Given the description of an element on the screen output the (x, y) to click on. 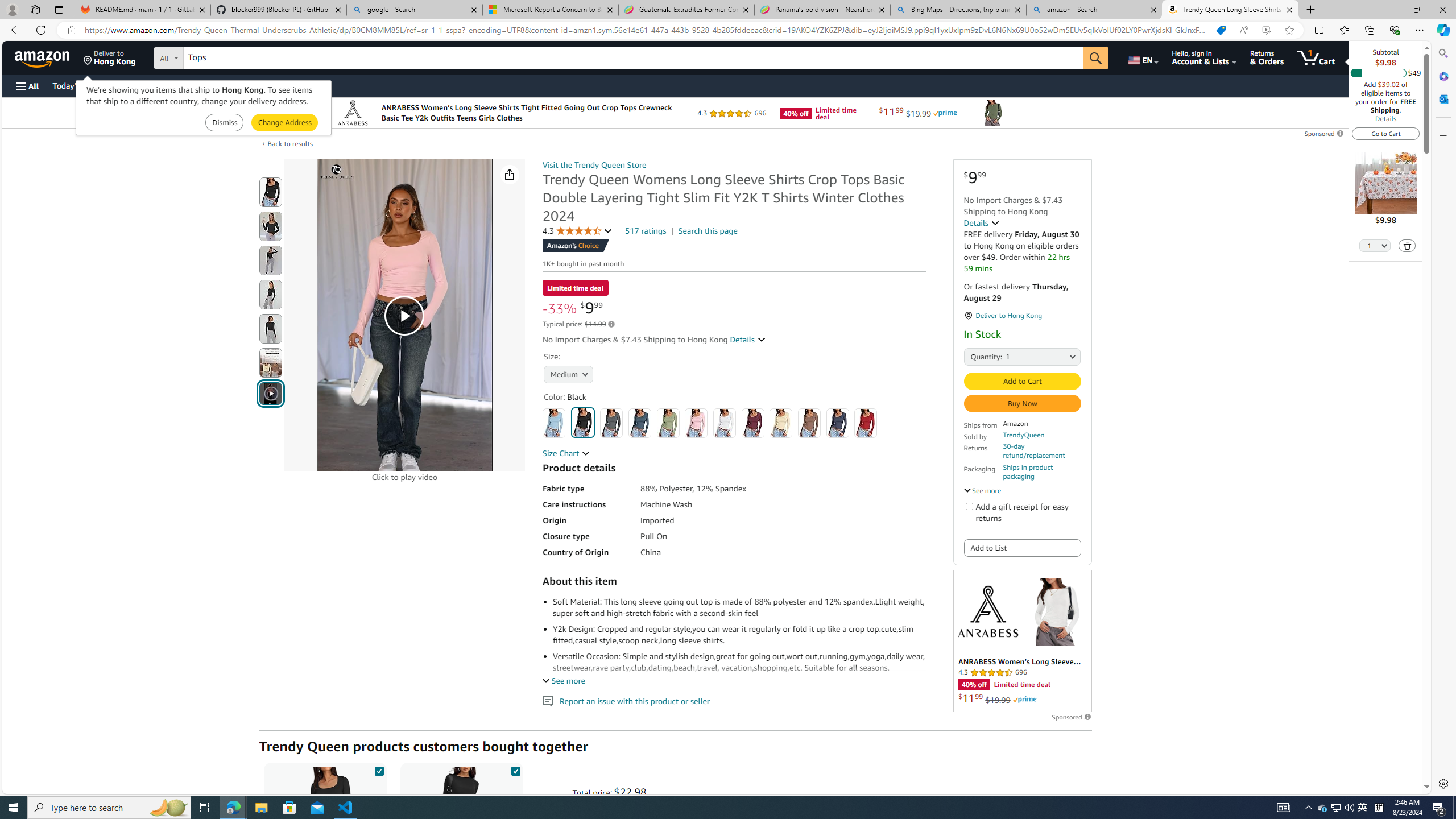
Haze Blue (639, 422)
Prime (1023, 699)
Share (509, 174)
Wine Red (752, 422)
517 ratings (645, 230)
Search Amazon (633, 57)
Logo (987, 611)
Apricot (781, 422)
